Given the description of an element on the screen output the (x, y) to click on. 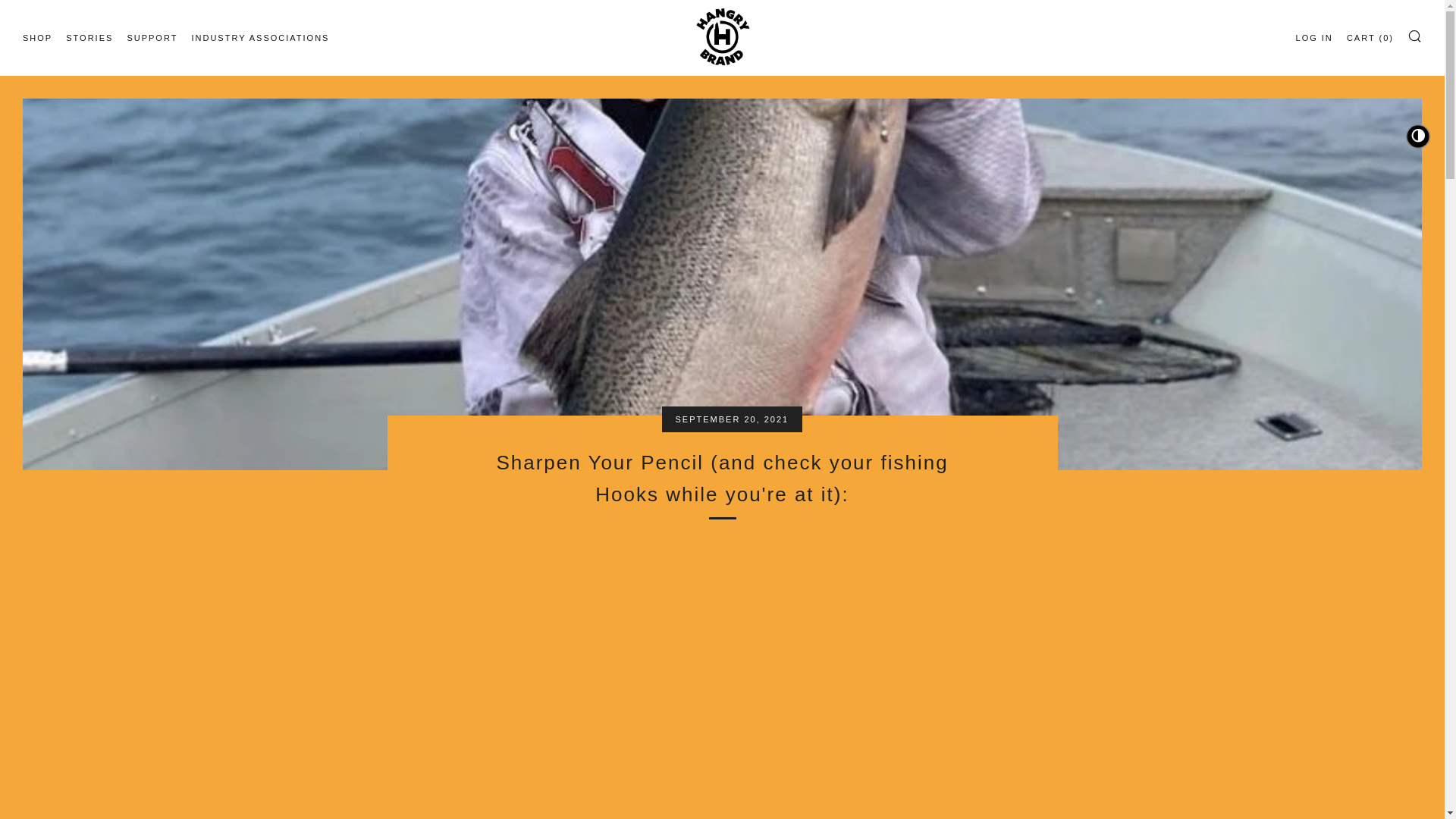
SEARCH (1414, 35)
INDUSTRY ASSOCIATIONS (259, 37)
STORIES (89, 37)
SHOP (37, 37)
LOG IN (1314, 37)
SUPPORT (151, 37)
